Given the description of an element on the screen output the (x, y) to click on. 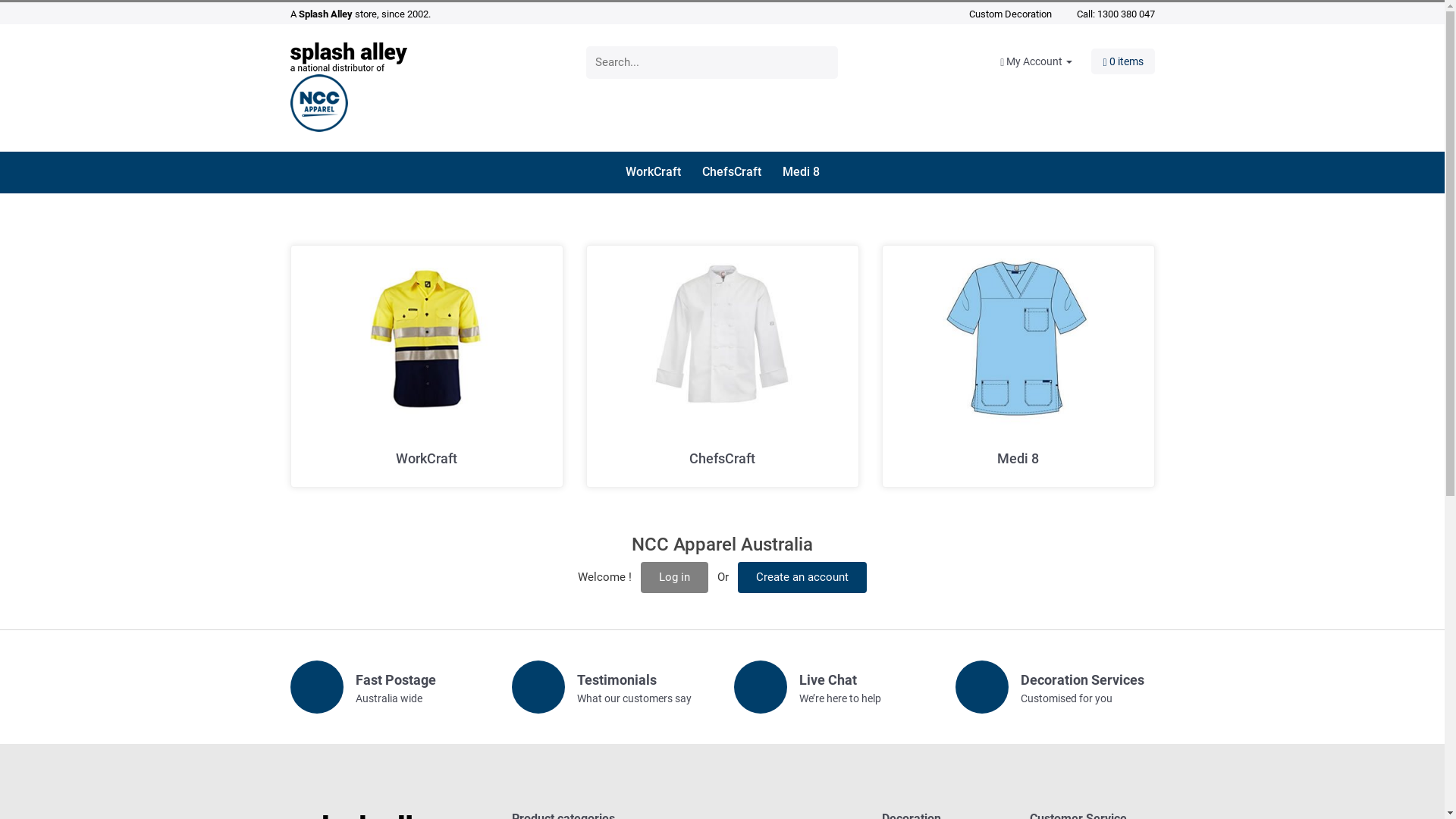
My Account Element type: text (1045, 61)
Medi 8 Element type: text (1017, 458)
Log in Element type: text (674, 577)
WorkCraft Element type: hover (426, 337)
Medi 8 Element type: hover (1017, 337)
Create an account Element type: text (801, 577)
Custom Decoration Element type: text (1010, 13)
1300 380 047 Element type: text (1125, 13)
WorkCraft Element type: text (426, 458)
Medi 8 Element type: text (800, 172)
ChefsCraft Element type: hover (721, 337)
WorkCraft Element type: text (661, 172)
ChefsCraft Element type: text (740, 172)
ChefsCraft Element type: text (722, 458)
